Given the description of an element on the screen output the (x, y) to click on. 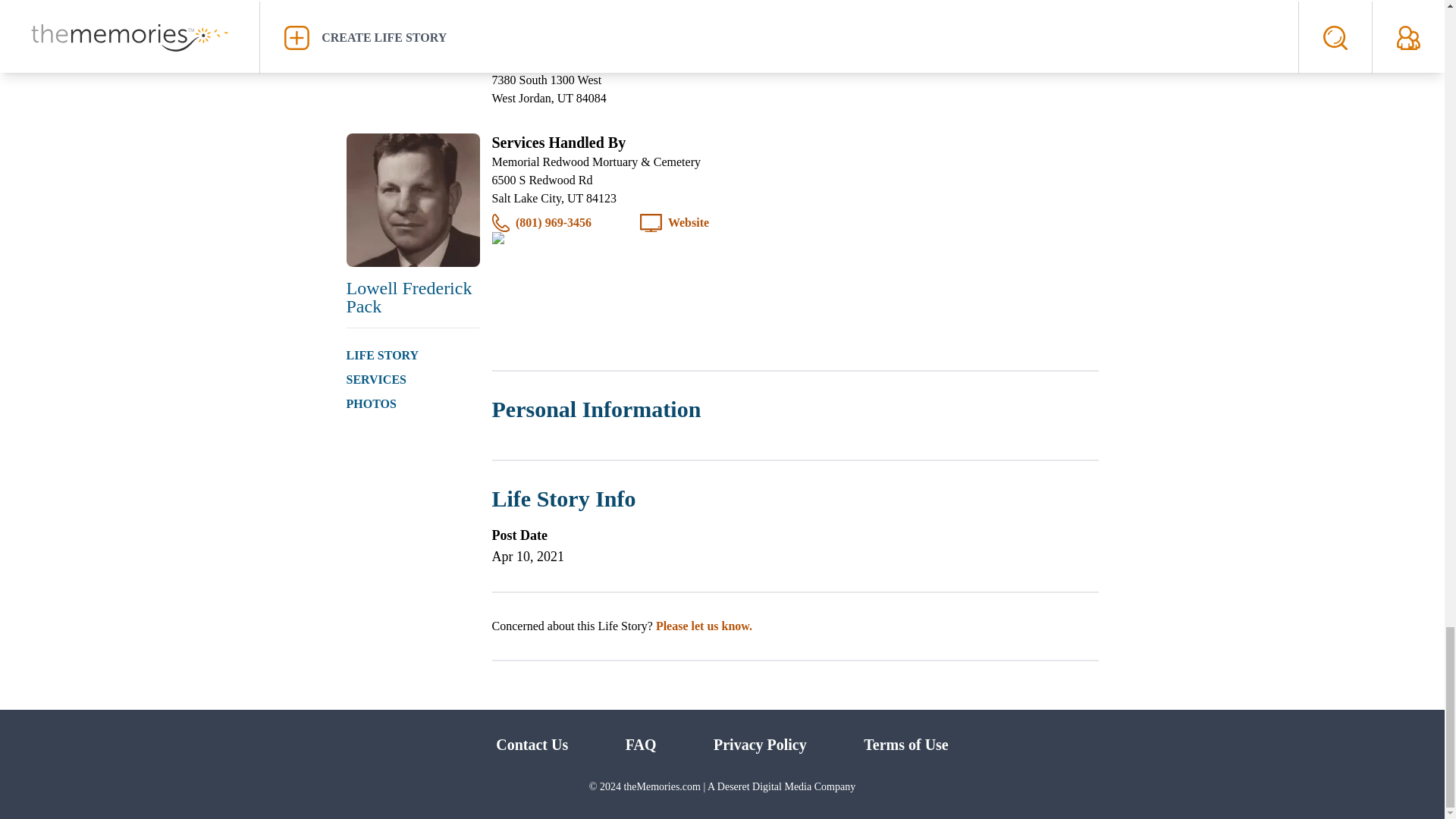
Website (688, 222)
Contact Us (531, 744)
Terms of Use (905, 744)
Privacy Policy (759, 744)
Please let us know. (704, 625)
FAQ (641, 744)
